Given the description of an element on the screen output the (x, y) to click on. 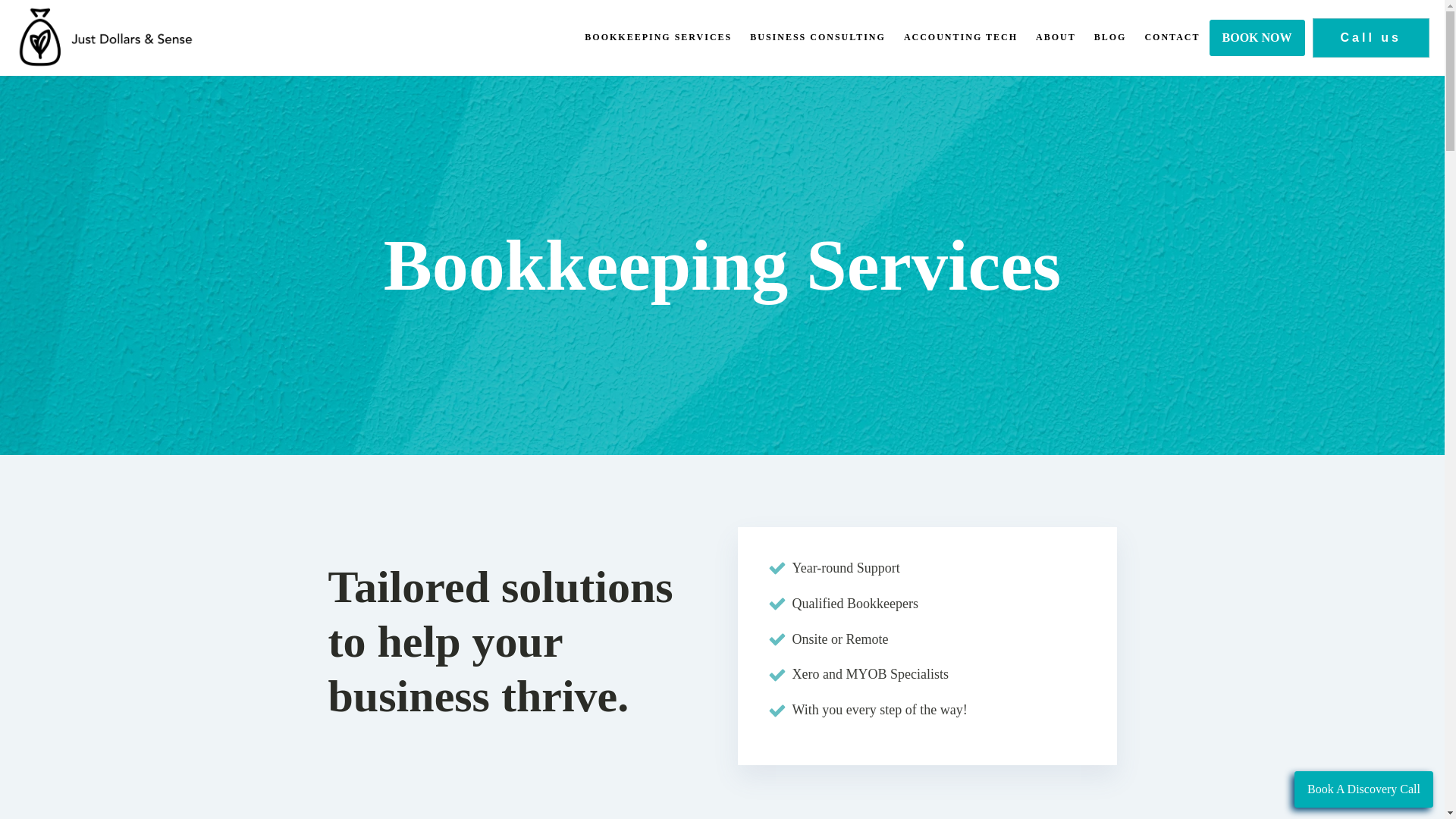
ABOUT (1055, 37)
ACCOUNTING TECH (960, 37)
BOOKKEEPING SERVICES (658, 37)
BUSINESS CONSULTING (818, 37)
Call us (1371, 37)
Book A Discovery Call (1363, 789)
CONTACT (1171, 37)
BLOG (1109, 37)
Xero and MYOB Specialists (869, 674)
BOOK NOW (1256, 37)
